Given the description of an element on the screen output the (x, y) to click on. 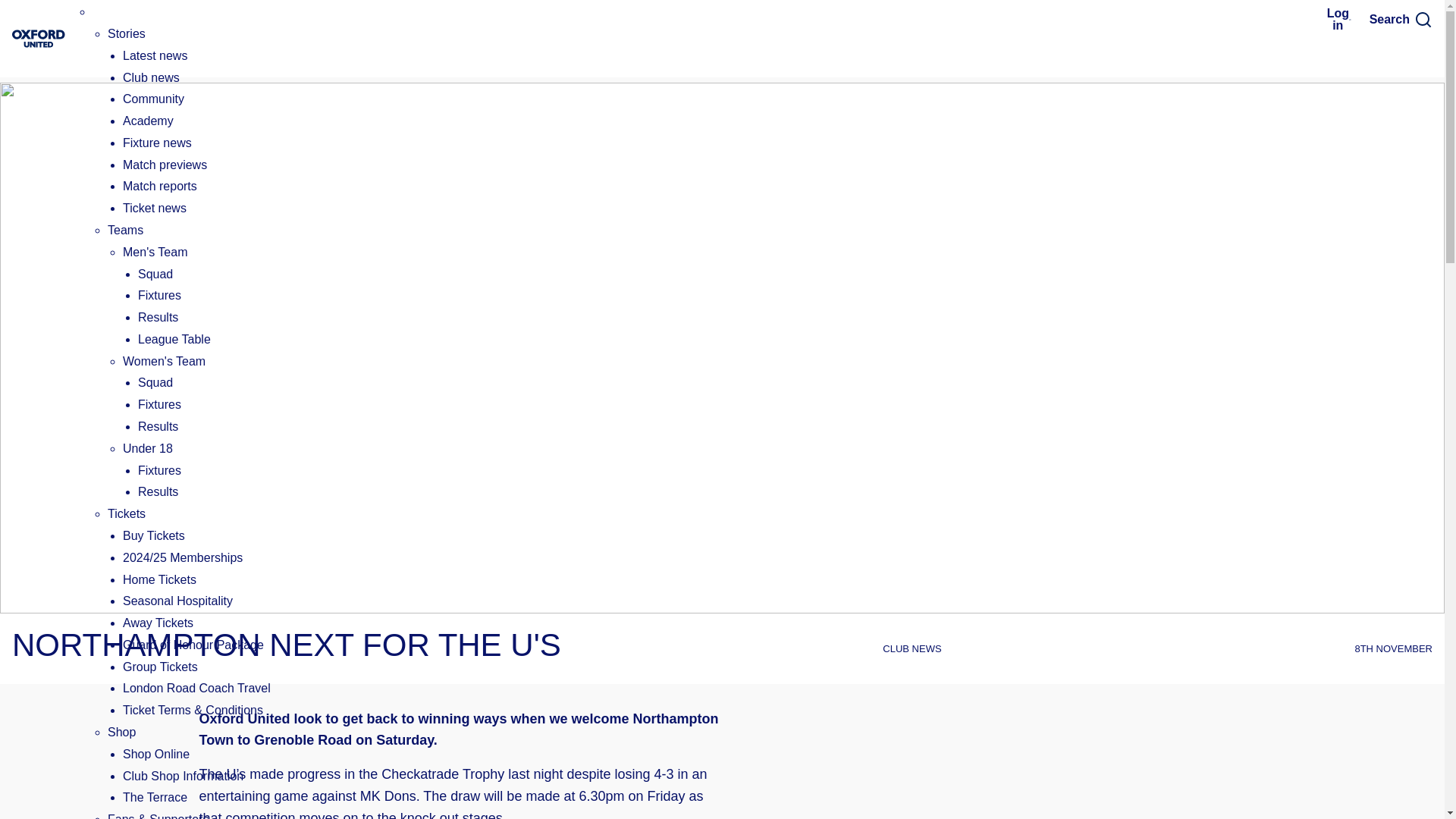
Club Shop Information (182, 775)
Seasonal Hospitality (177, 600)
Results (157, 426)
London Road Coach Travel (196, 687)
Under 18 (147, 448)
Fixtures (159, 470)
Buy Tickets (153, 535)
Women's Team (163, 360)
Group Tickets (160, 666)
Teams (124, 229)
